Given the description of an element on the screen output the (x, y) to click on. 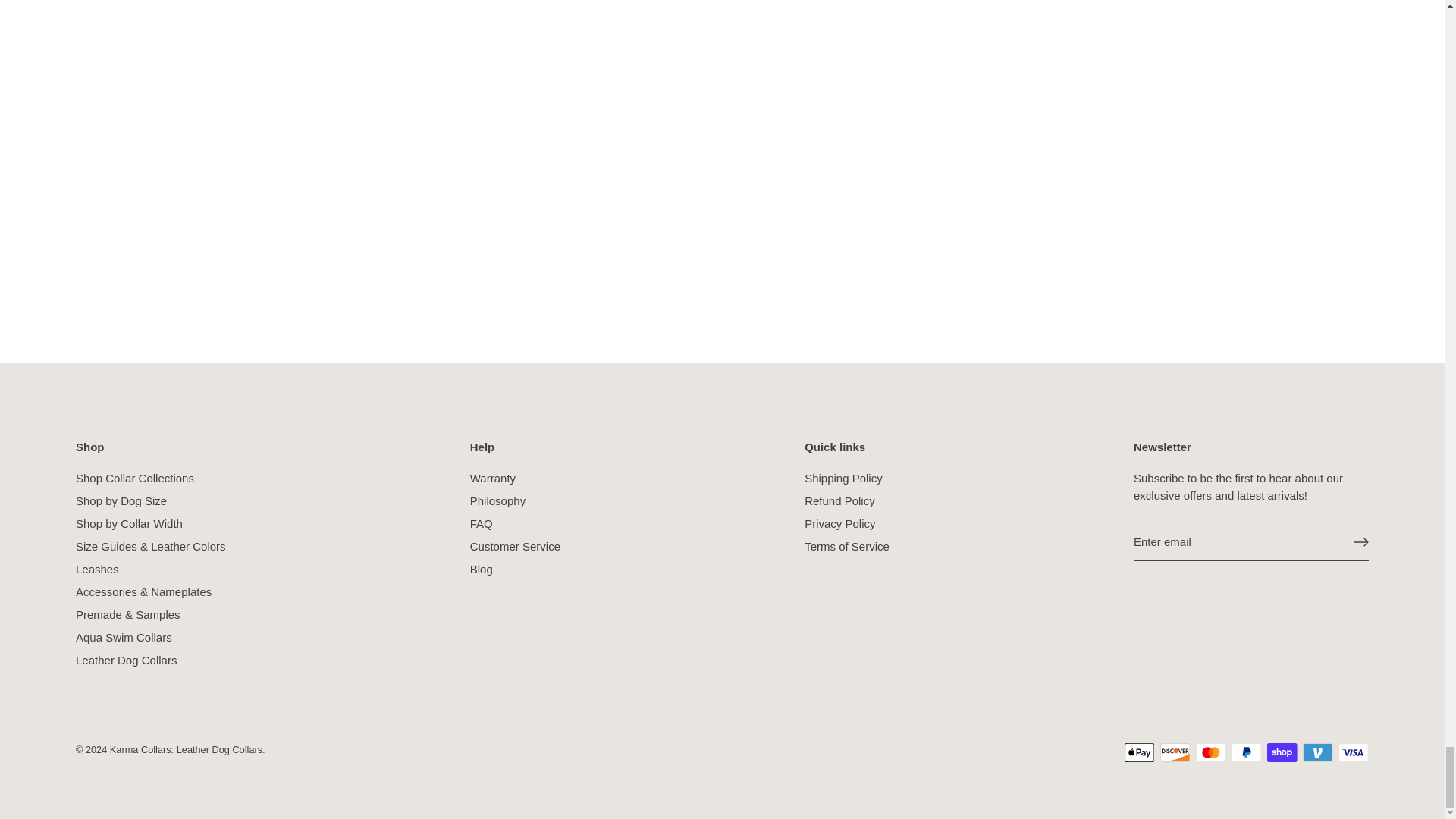
Right arrow long (1361, 541)
Mastercard (1210, 752)
PayPal (1245, 752)
Discover (1174, 752)
Visa (1353, 752)
Shop Pay (1281, 752)
Venmo (1317, 752)
Apple Pay (1139, 752)
